Given the description of an element on the screen output the (x, y) to click on. 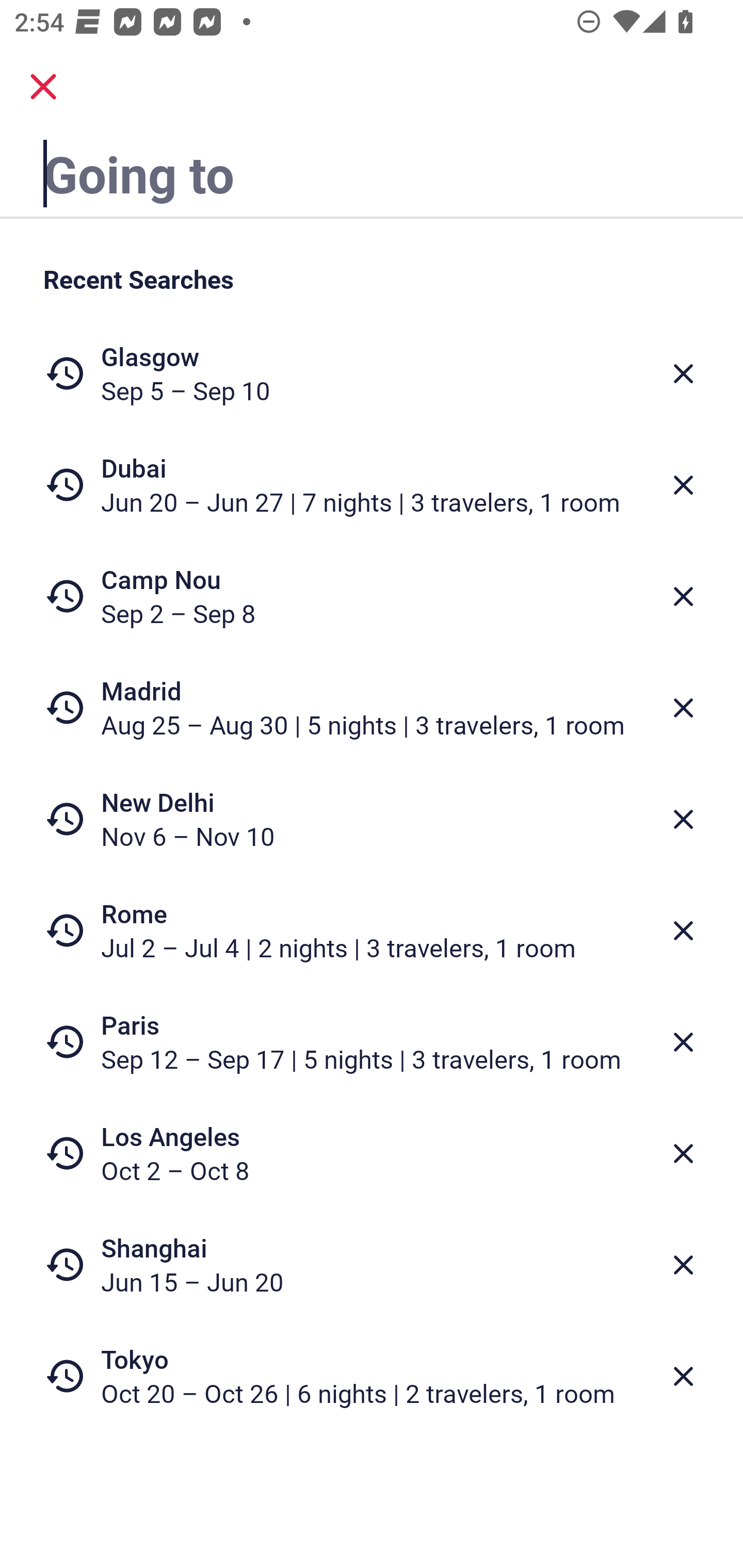
close. (43, 86)
Glasgow Sep 5 – Sep 10 (371, 373)
Delete from recent searches (683, 373)
Delete from recent searches (683, 485)
Camp Nou Sep 2 – Sep 8 (371, 596)
Delete from recent searches (683, 596)
Delete from recent searches (683, 707)
New Delhi Nov 6 – Nov 10 (371, 818)
Delete from recent searches (683, 819)
Delete from recent searches (683, 930)
Delete from recent searches (683, 1041)
Los Angeles Oct 2 – Oct 8 (371, 1152)
Delete from recent searches (683, 1153)
Shanghai Jun 15 – Jun 20 (371, 1264)
Delete from recent searches (683, 1265)
Delete from recent searches (683, 1376)
